Given the description of an element on the screen output the (x, y) to click on. 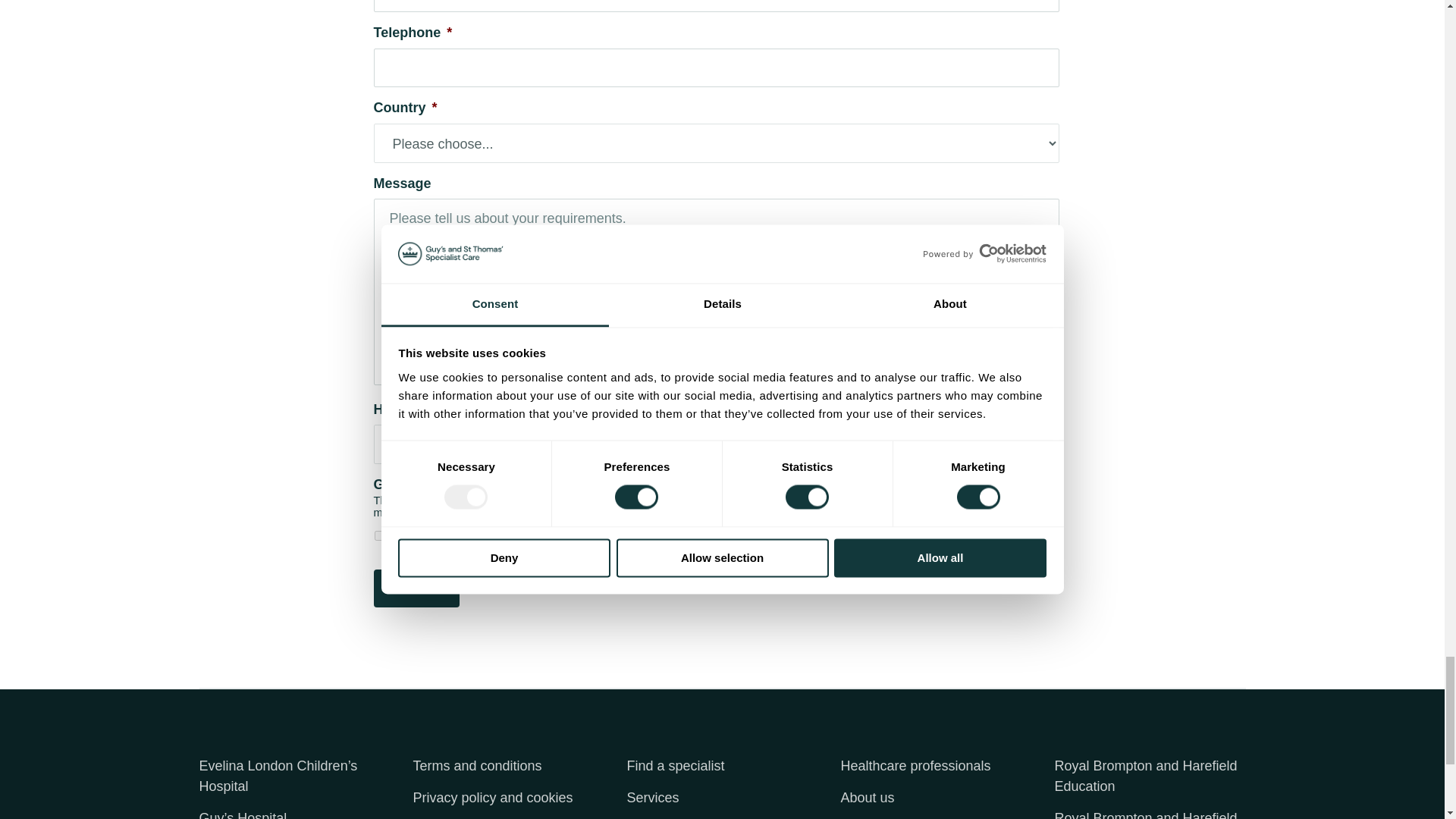
Submit (416, 588)
